Given the description of an element on the screen output the (x, y) to click on. 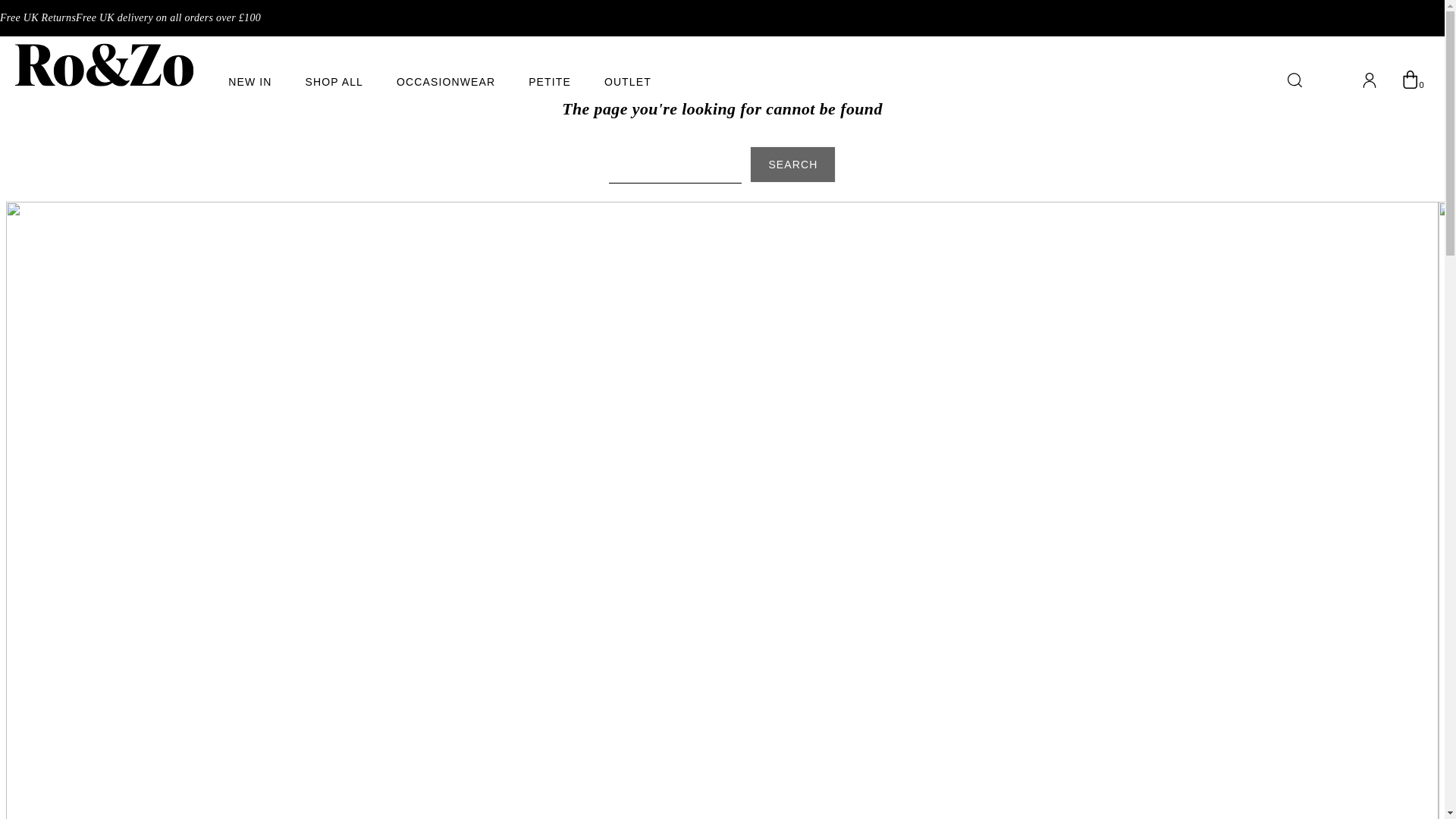
OUTLET (627, 81)
OCCASIONWEAR (445, 81)
NEW IN (250, 81)
PETITE (549, 81)
SHOP ALL (334, 81)
